Given the description of an element on the screen output the (x, y) to click on. 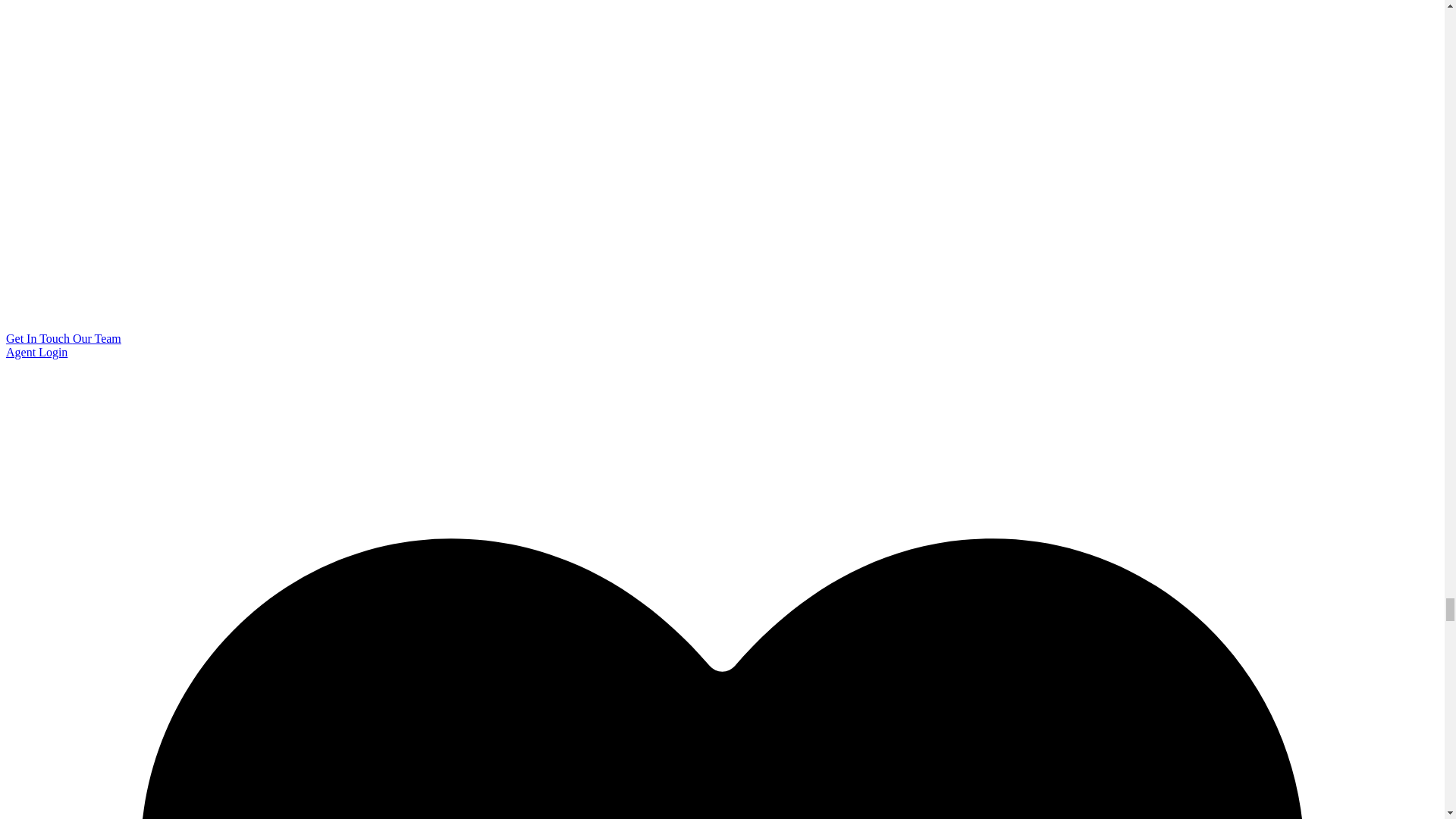
Our Team (96, 338)
Get In Touch (38, 338)
Agent Login (35, 351)
